Given the description of an element on the screen output the (x, y) to click on. 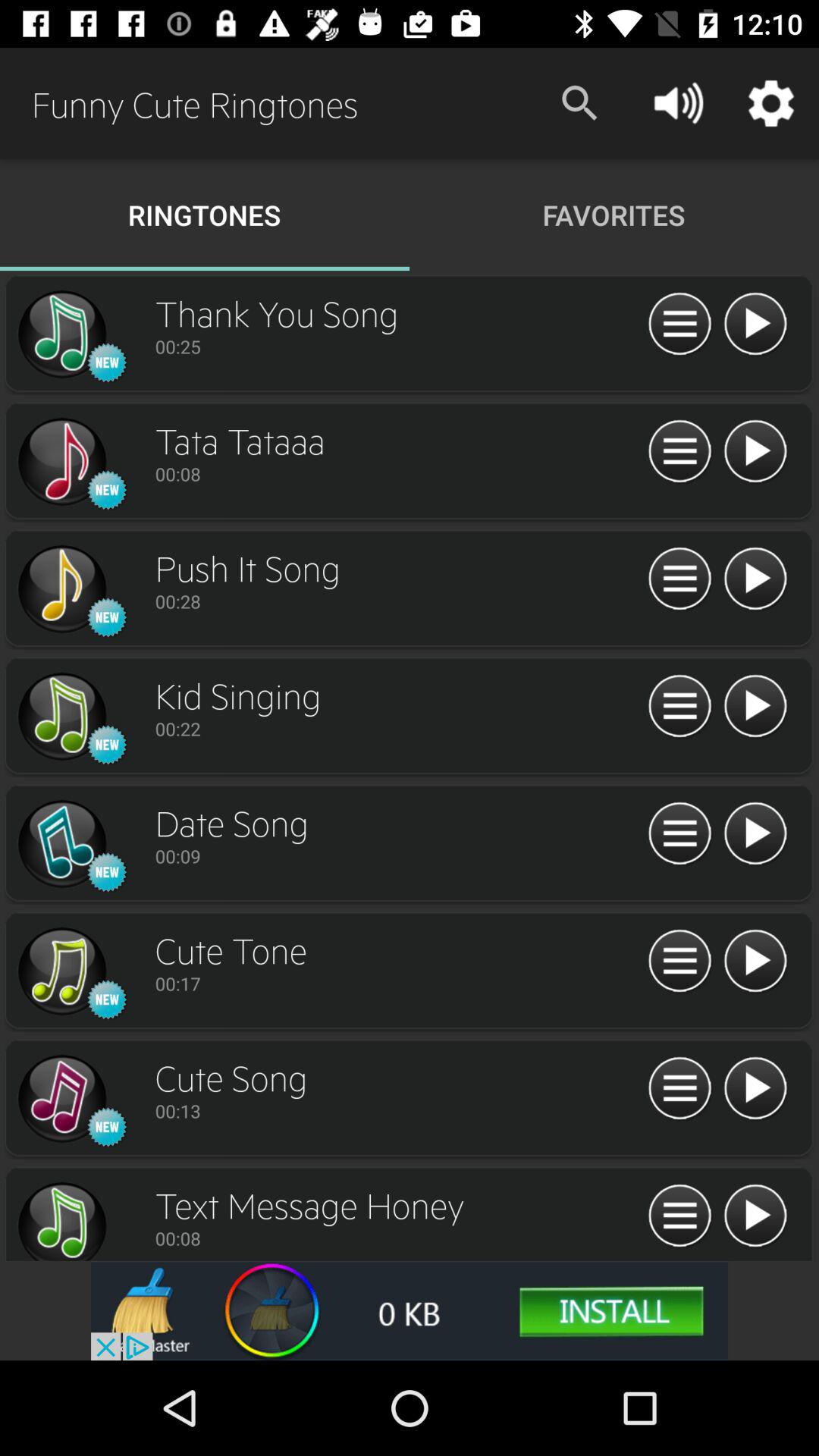
go to song details (679, 961)
